Given the description of an element on the screen output the (x, y) to click on. 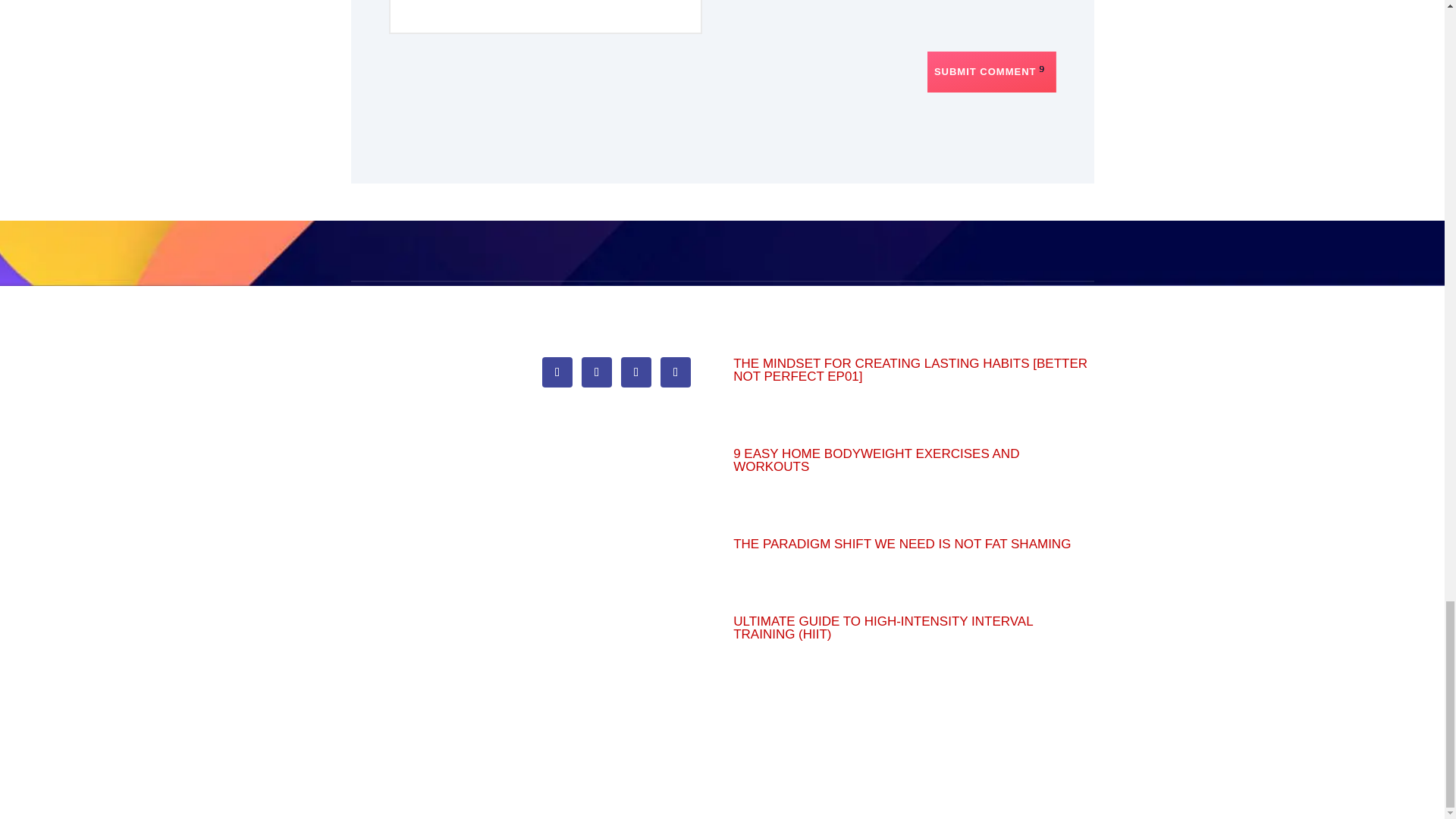
New Territory Media (400, 492)
Blog (361, 390)
Follow on Facebook (556, 372)
Follow on Instagram (635, 372)
SUBMIT COMMENT (992, 71)
Follow on Youtube (675, 372)
Follow on X (595, 372)
NTX Go (370, 359)
Contact (370, 420)
